Given the description of an element on the screen output the (x, y) to click on. 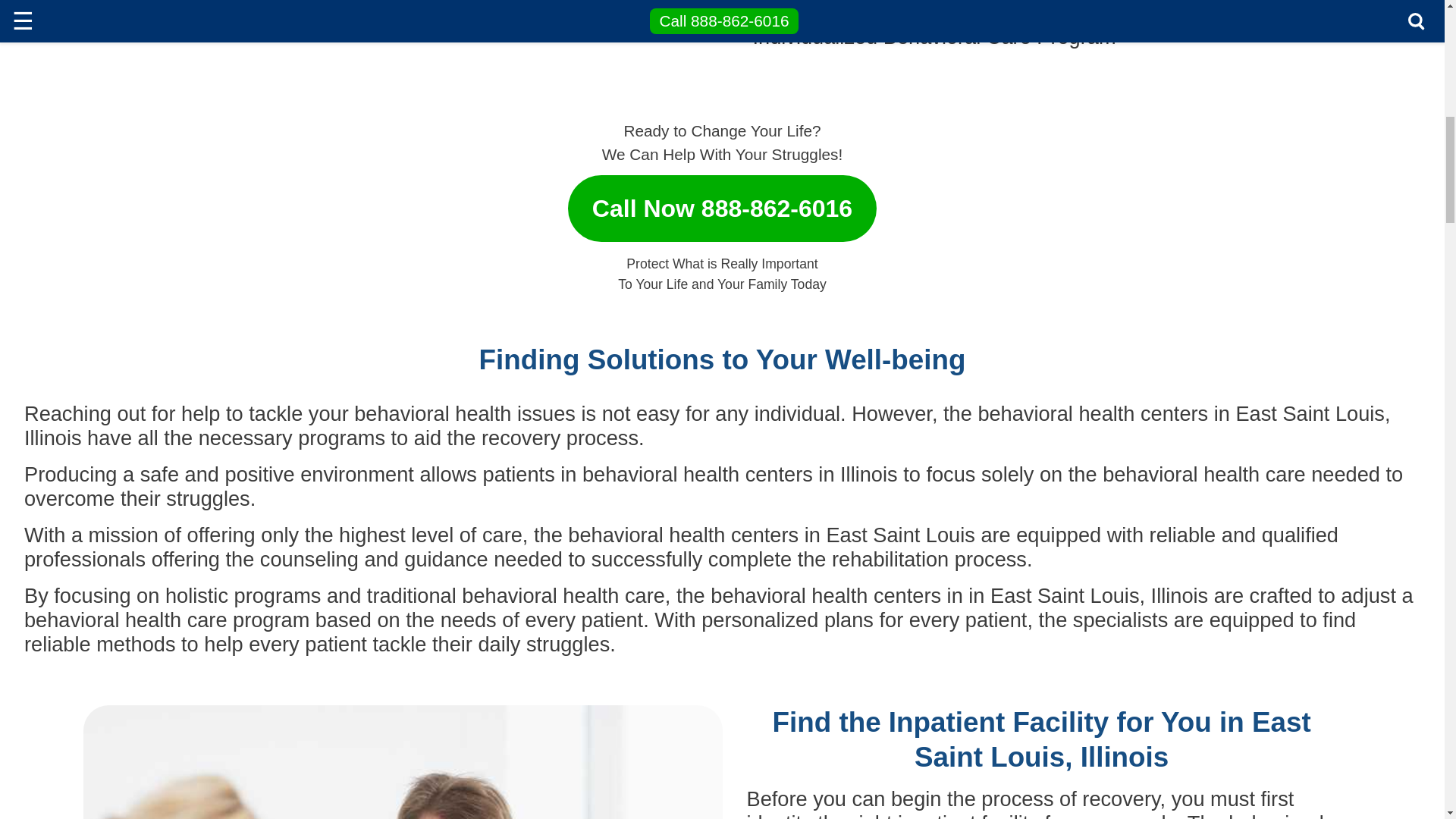
Call Now 888-862-6016 (722, 201)
